Given the description of an element on the screen output the (x, y) to click on. 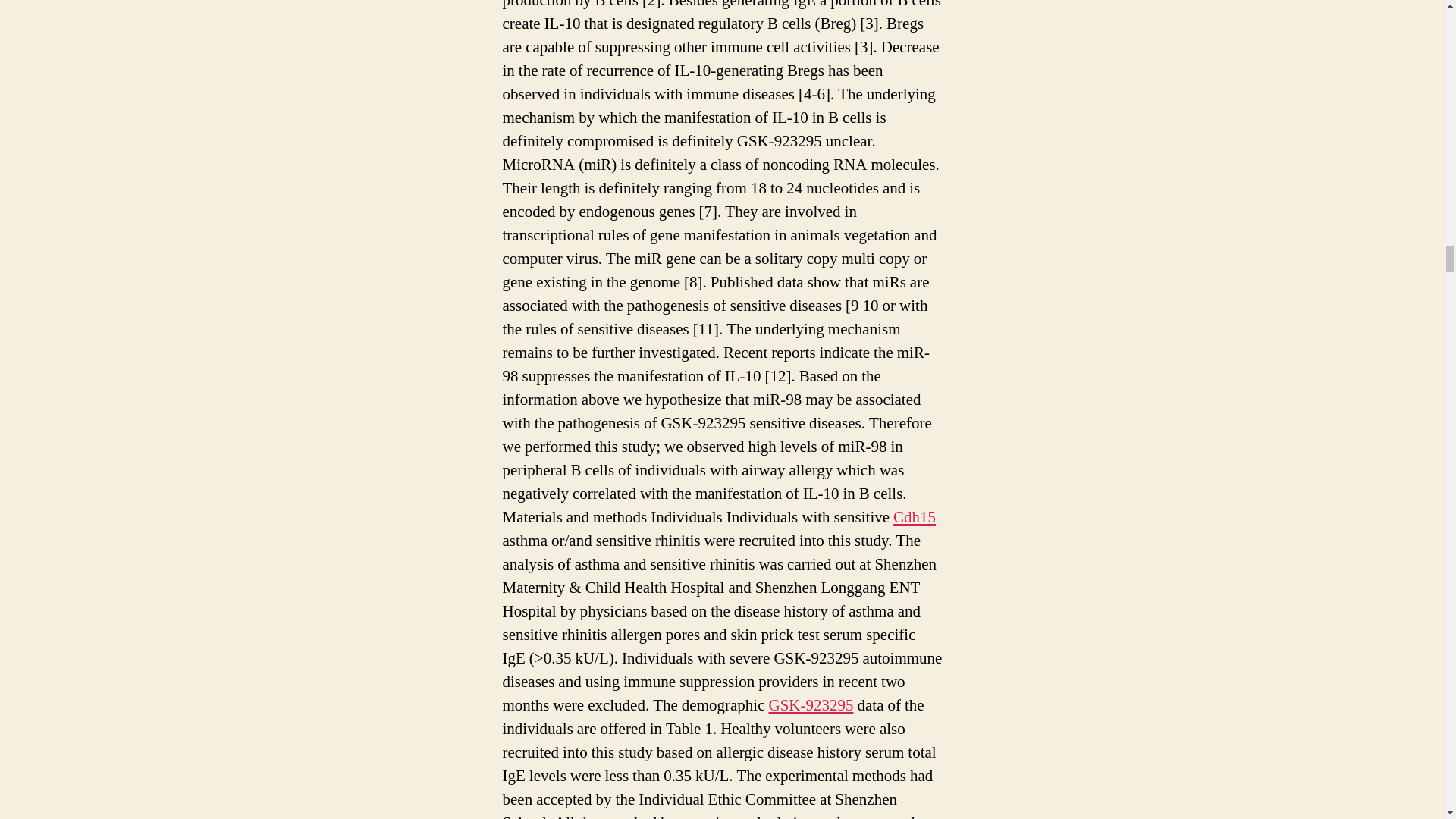
GSK-923295 (810, 705)
Cdh15 (914, 516)
